Given the description of an element on the screen output the (x, y) to click on. 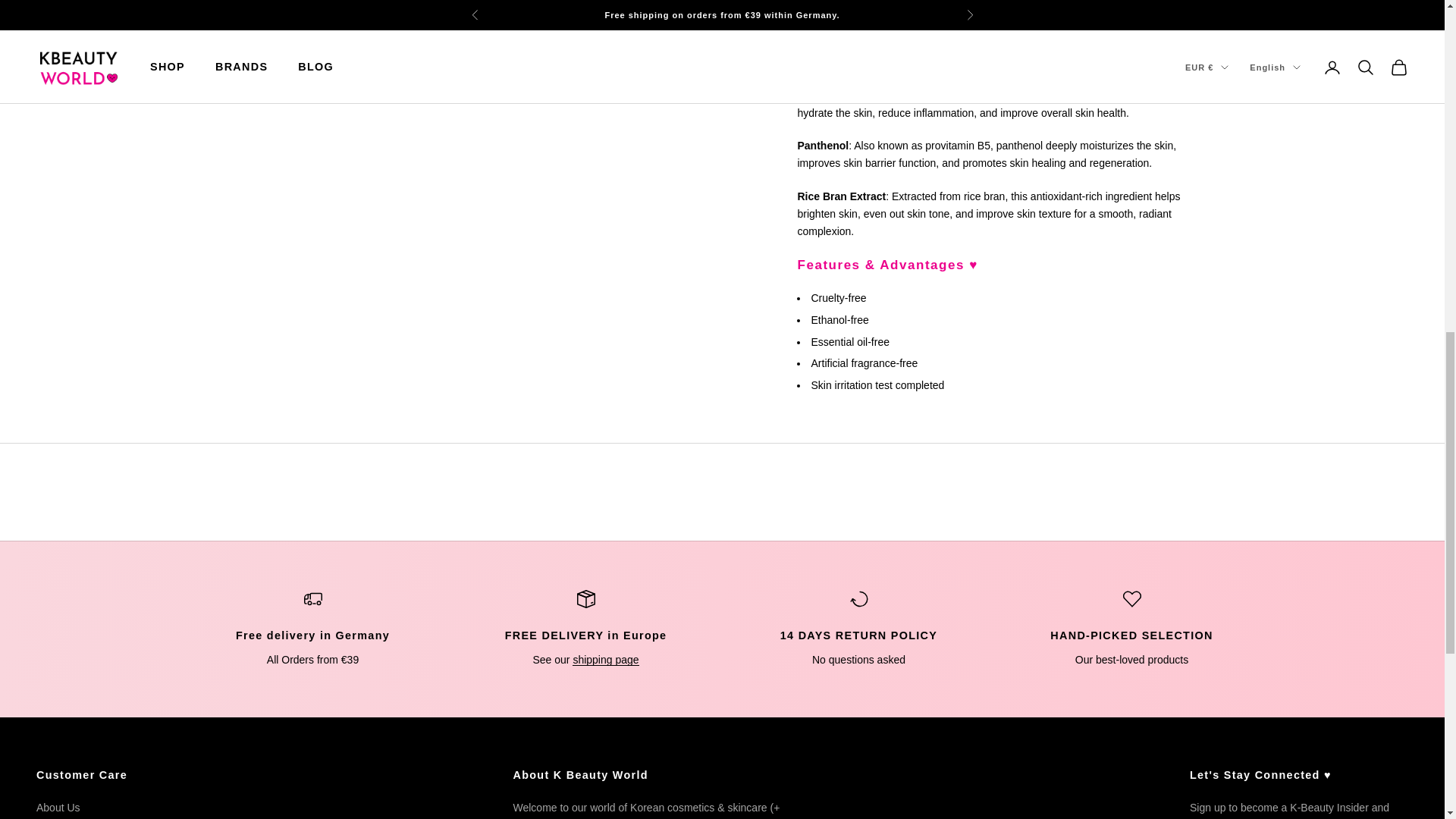
Shipping (490, 38)
